Given the description of an element on the screen output the (x, y) to click on. 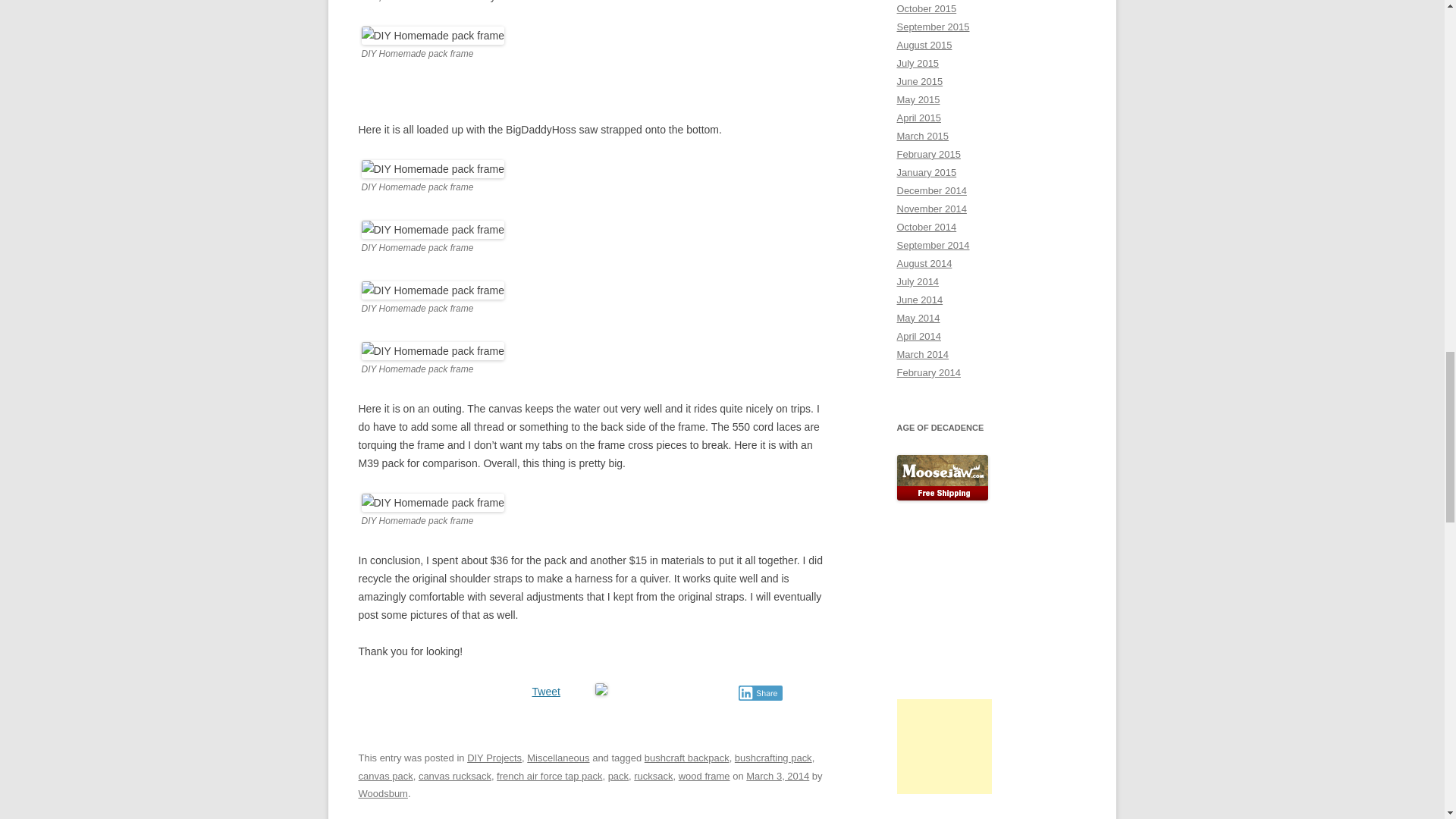
DIY Homemade pack frame (432, 229)
french air force tap pack (549, 776)
DIY Homemade pack frame (432, 290)
rucksack (652, 776)
canvas rucksack (455, 776)
DIY Projects (494, 757)
DIY Homemade pack frame (432, 168)
Tweet (546, 691)
wood frame (704, 776)
pack (618, 776)
Share on Tumblr (672, 689)
March 3, 2014 (777, 776)
bushcrafting pack (773, 757)
DIY Homemade pack frame (432, 351)
Miscellaneous (558, 757)
